Given the description of an element on the screen output the (x, y) to click on. 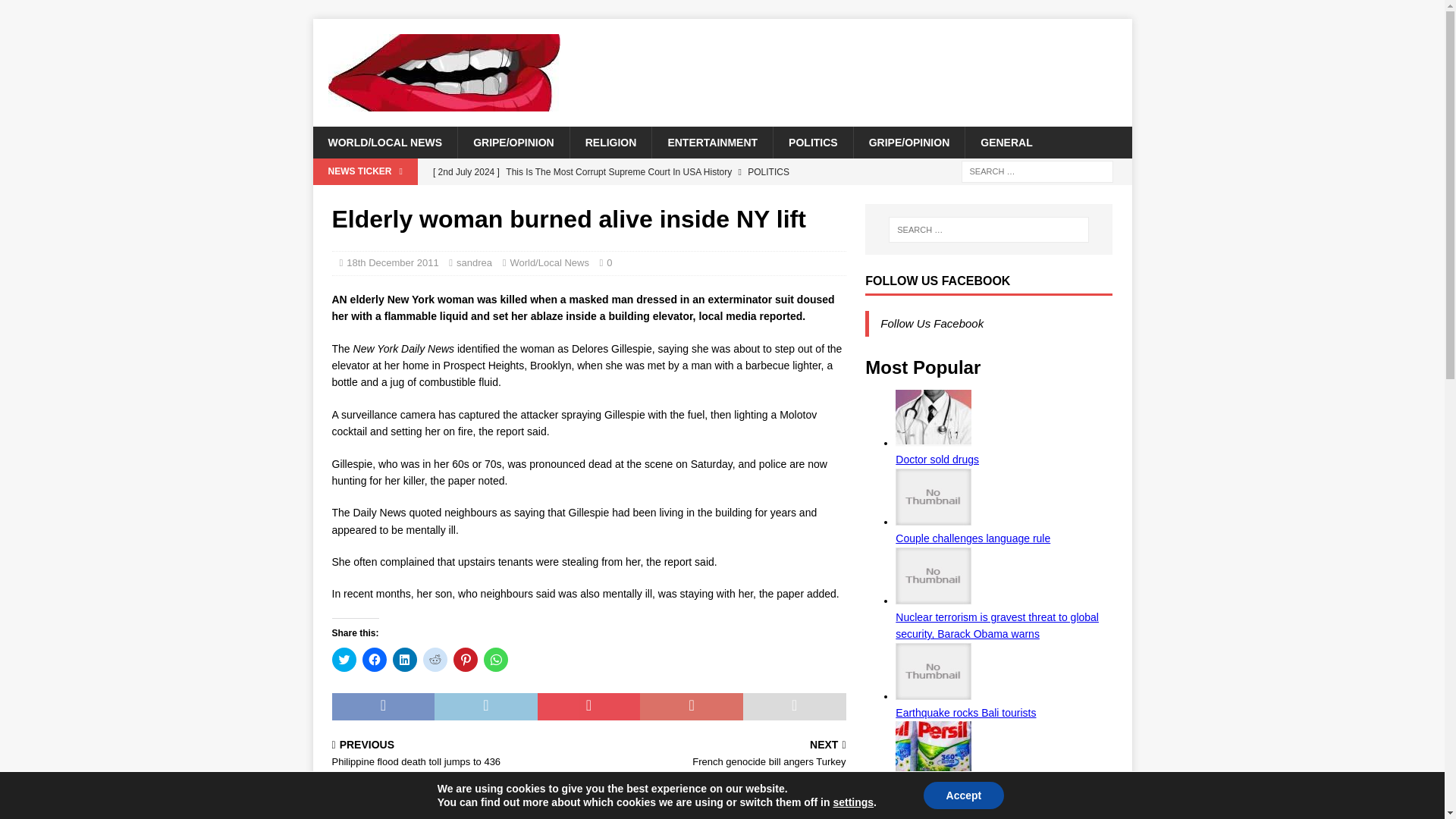
Search (56, 11)
Click to share on Facebook (374, 659)
Knowingly Committing Perjury Is A Crime In The USA (634, 171)
This Is The Most Corrupt Supreme Court In USA History (634, 171)
Some Republicans Will Not Compromise Integrity Or Dignity (634, 197)
GENERAL (1004, 142)
RELIGION (610, 142)
Click to share on LinkedIn (720, 754)
POLITICS (404, 659)
sandrea (813, 142)
ENTERTAINMENT (474, 262)
